Given the description of an element on the screen output the (x, y) to click on. 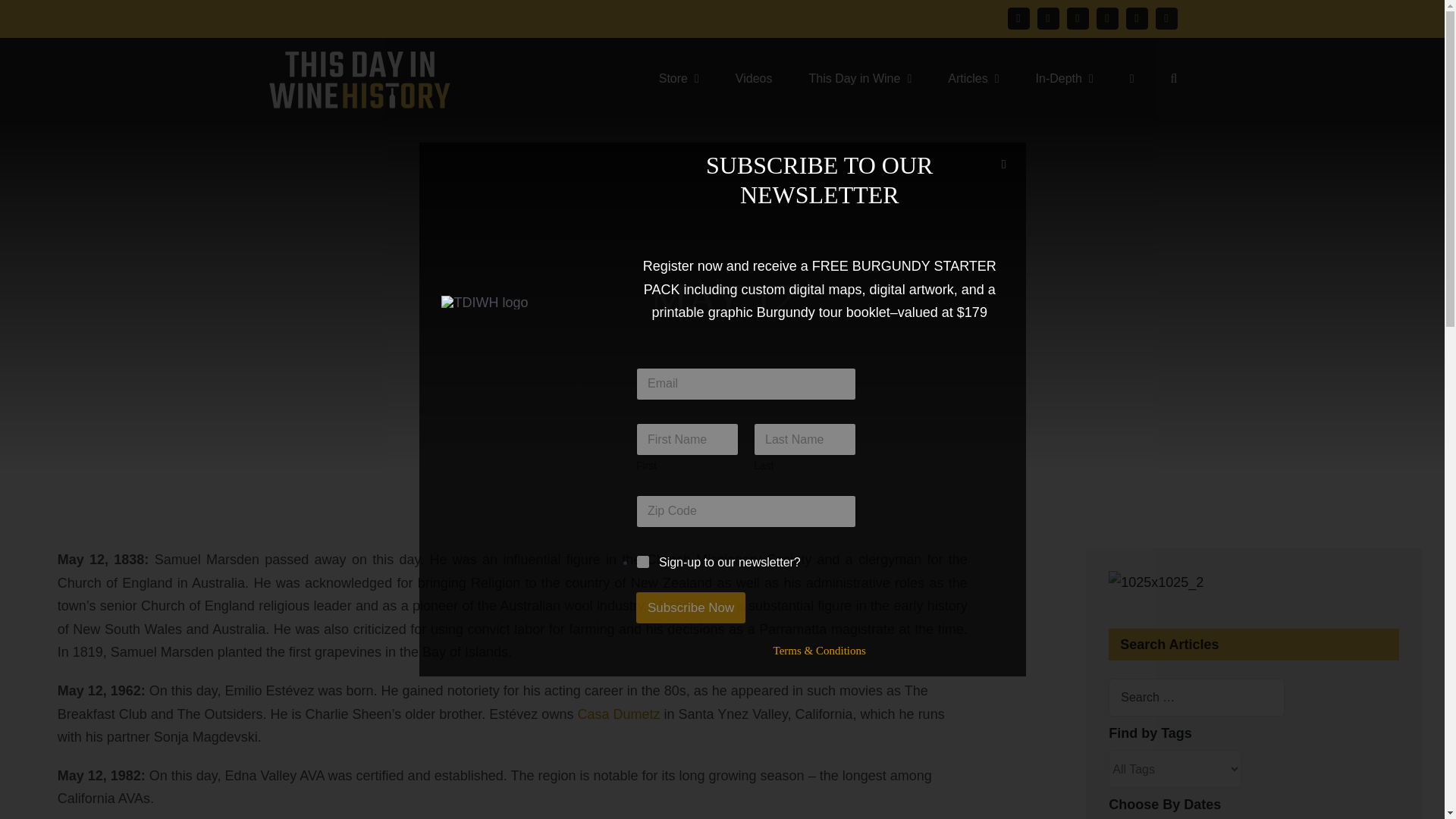
Instagram (1076, 18)
Go (862, 299)
X (1047, 18)
LinkedIn (1166, 18)
Pinterest (1107, 18)
Instagram (1076, 18)
Pinterest (1107, 18)
X (1047, 18)
LinkedIn (1166, 18)
This Day in Wine (859, 77)
